Given the description of an element on the screen output the (x, y) to click on. 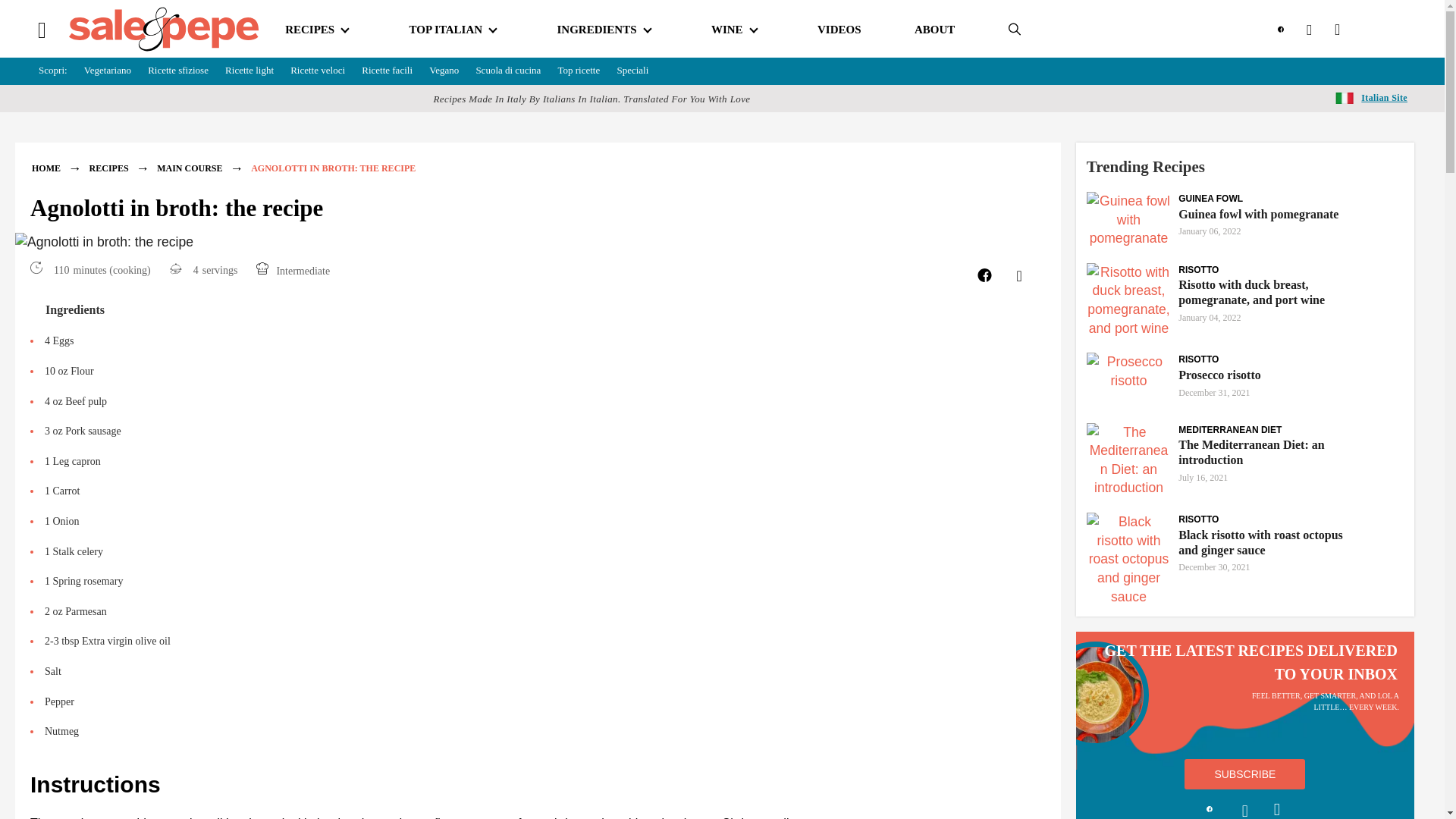
INGREDIENTS (596, 29)
TOP ITALIAN (446, 29)
RECIPES (309, 29)
